Given the description of an element on the screen output the (x, y) to click on. 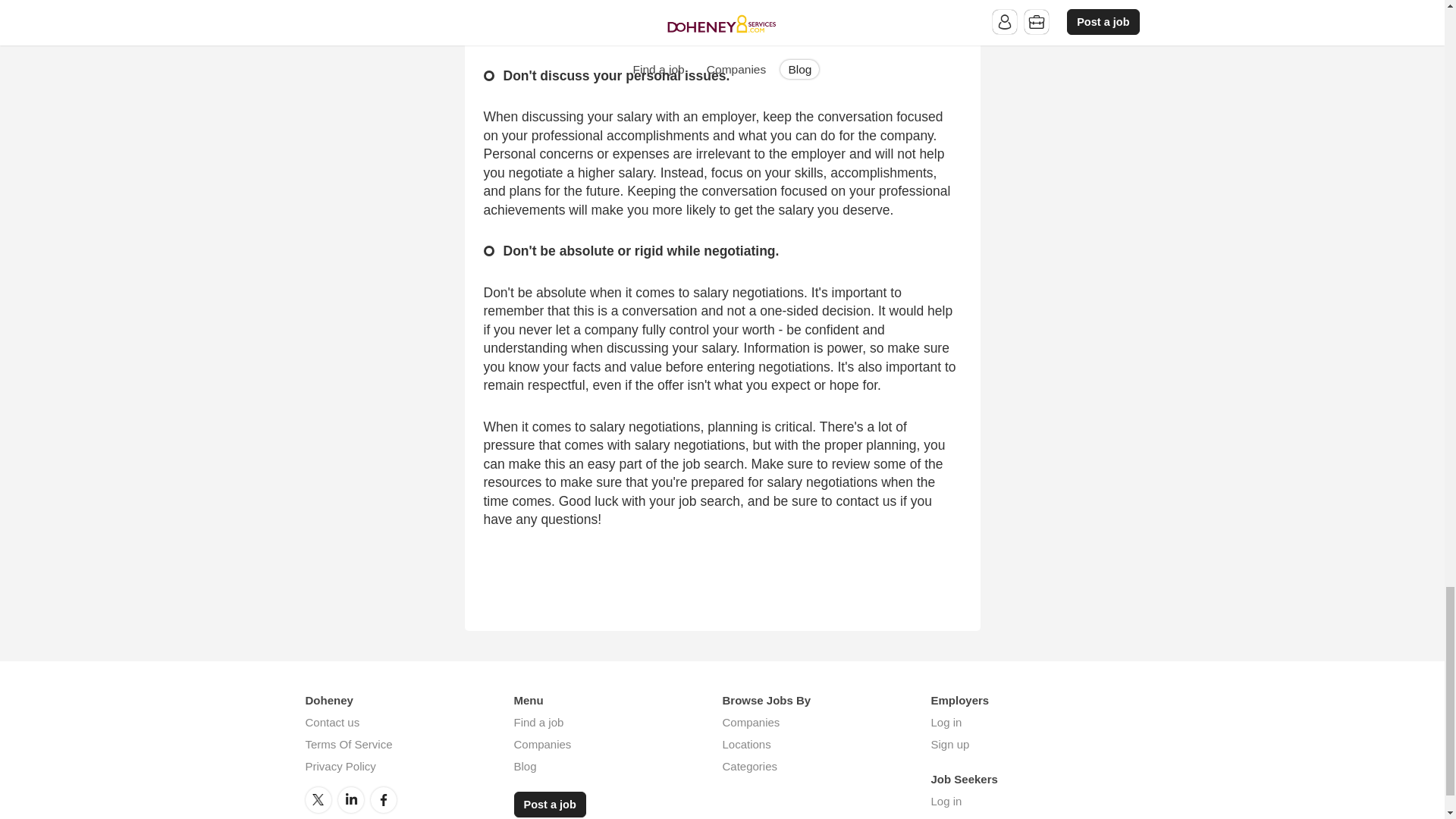
Facebook (383, 800)
Categories (749, 766)
Sign up (950, 744)
Log in (946, 800)
Privacy Policy (339, 766)
Log in (946, 721)
Find a job (538, 721)
Contact us (331, 721)
Twitter (317, 800)
Locations (746, 744)
